Given the description of an element on the screen output the (x, y) to click on. 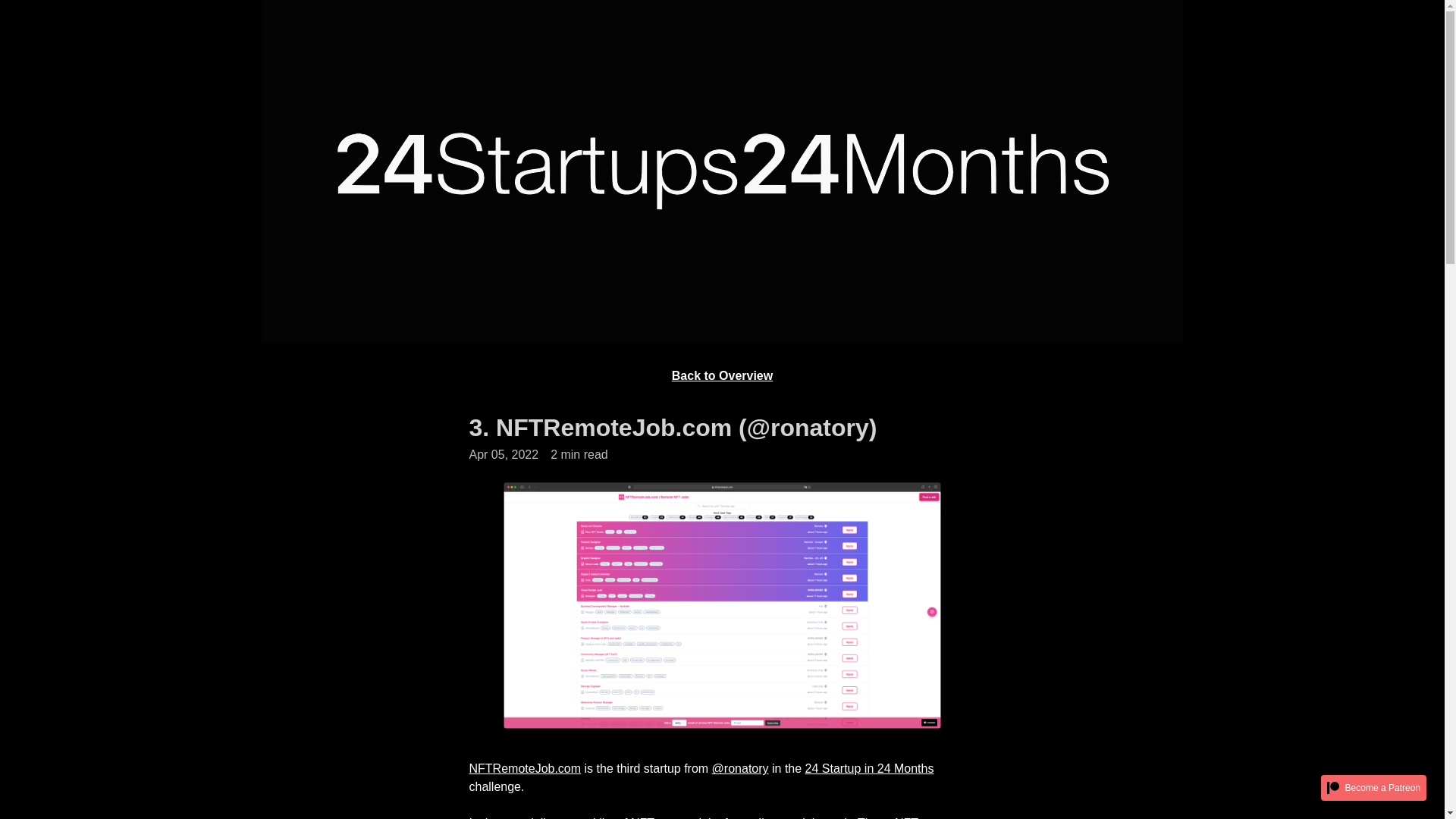
Become a Patreon Element type: text (1373, 787)
NFTRemoteJob.com Element type: text (524, 768)
@ronatory Element type: text (740, 768)
24 Startup in 24 Months Element type: text (869, 768)
Back to Overview Element type: text (721, 375)
